Given the description of an element on the screen output the (x, y) to click on. 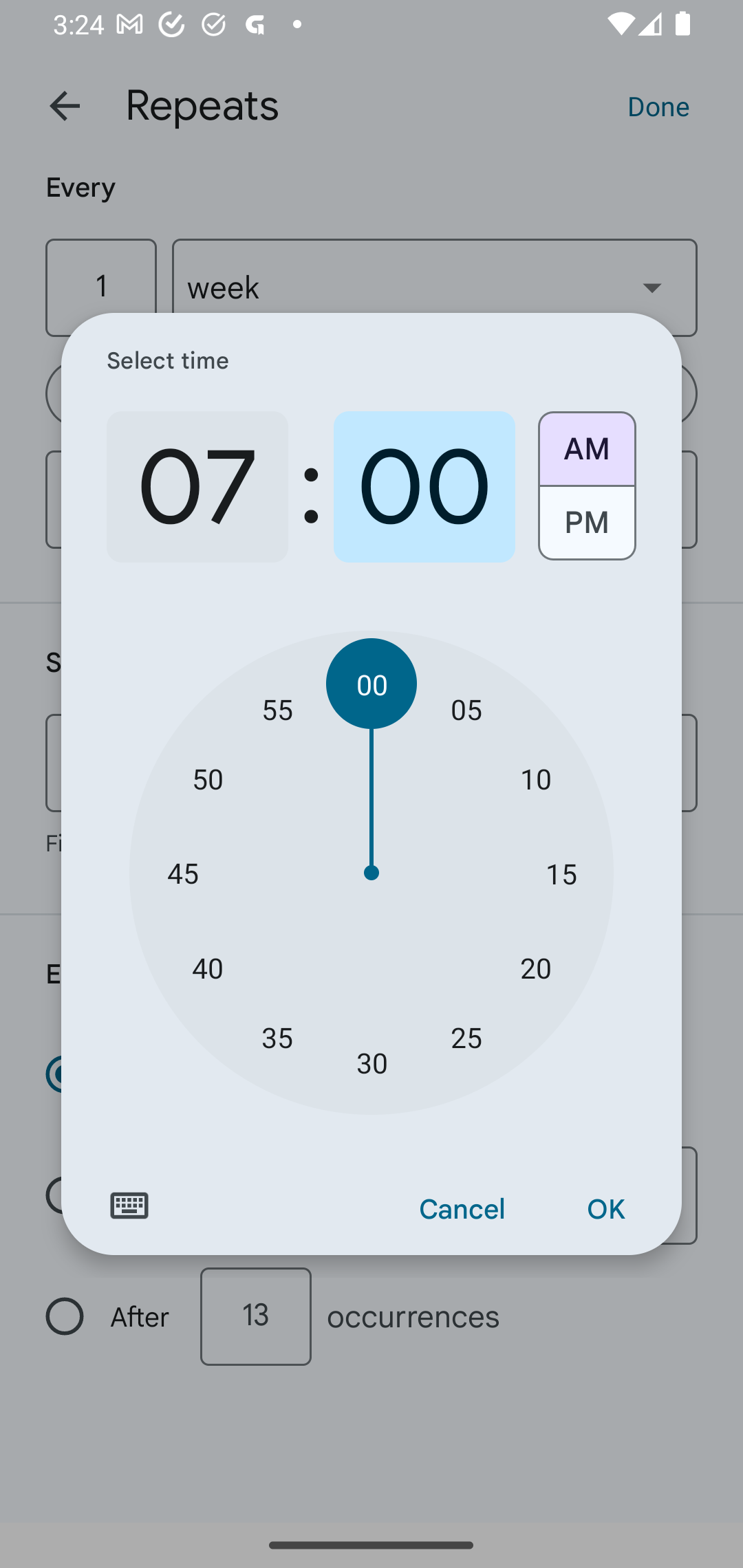
AM (586, 441)
07 7 o'clock (197, 486)
00 0 minutes (424, 486)
PM (586, 529)
00 00 minutes (371, 683)
55 55 minutes (276, 708)
05 05 minutes (466, 708)
50 50 minutes (207, 778)
10 10 minutes (535, 778)
45 45 minutes (182, 872)
15 15 minutes (561, 872)
40 40 minutes (207, 966)
20 20 minutes (535, 966)
35 35 minutes (276, 1035)
25 25 minutes (466, 1035)
30 30 minutes (371, 1062)
Switch to text input mode for the time input. (128, 1205)
Cancel (462, 1209)
OK (605, 1209)
